Given the description of an element on the screen output the (x, y) to click on. 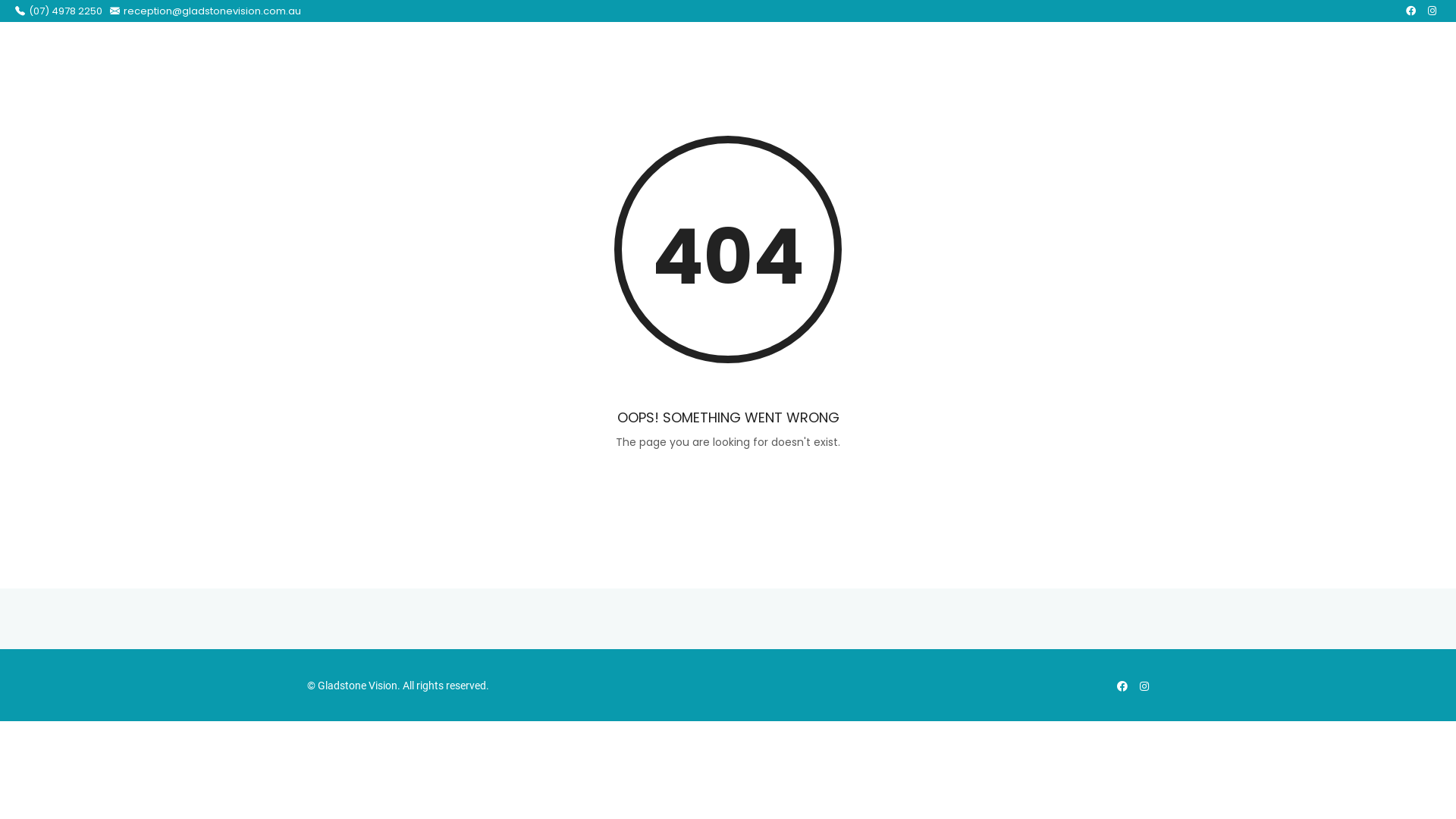
Facebook Element type: hover (1122, 685)
reception@gladstonevision.com.au Element type: text (205, 10)
(07) 4978 2250 Element type: text (58, 10)
Facebook Element type: hover (1410, 10)
Instagram Element type: hover (1431, 10)
Instagram Element type: hover (1143, 685)
